Given the description of an element on the screen output the (x, y) to click on. 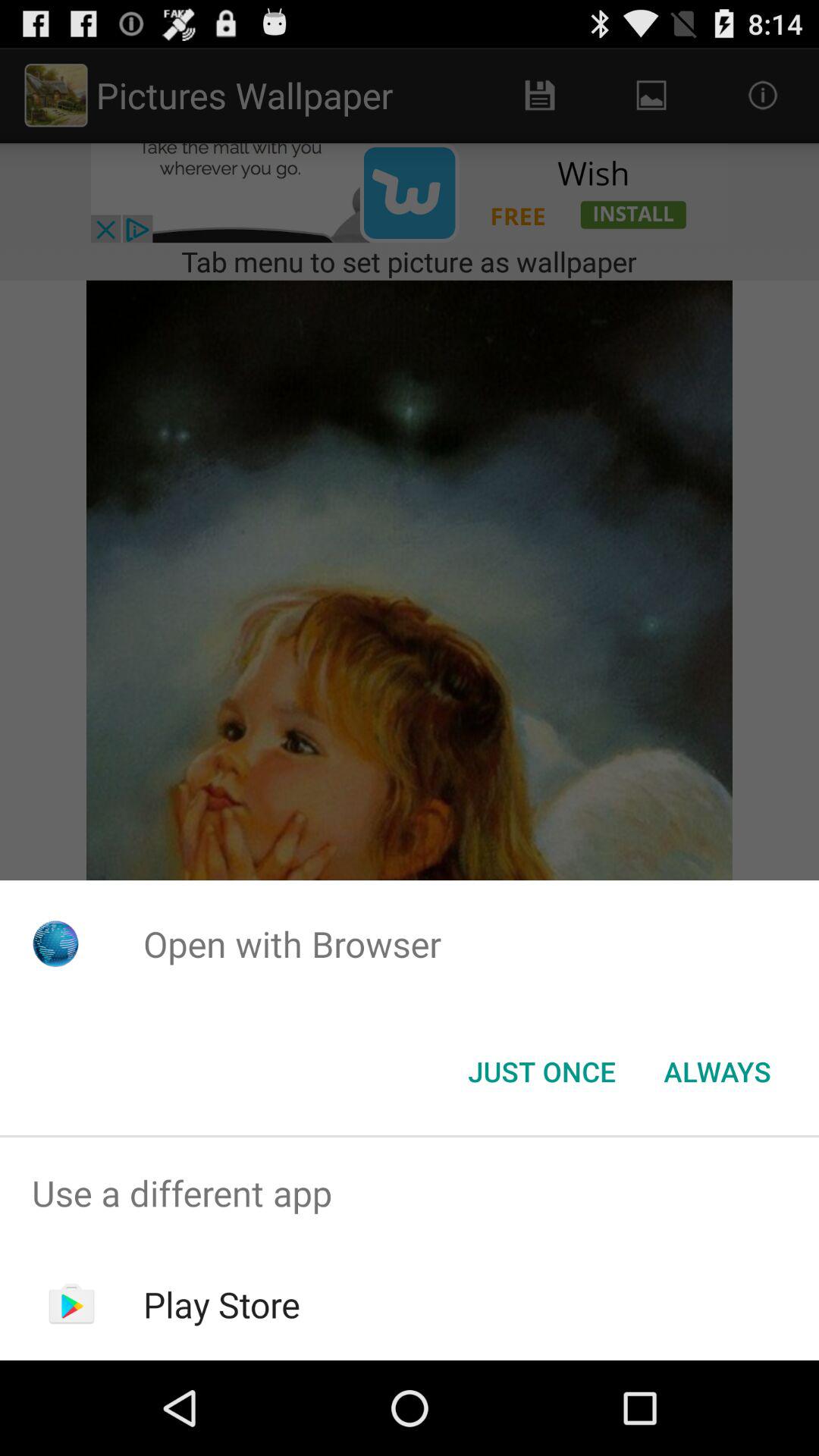
scroll to the always button (717, 1071)
